Given the description of an element on the screen output the (x, y) to click on. 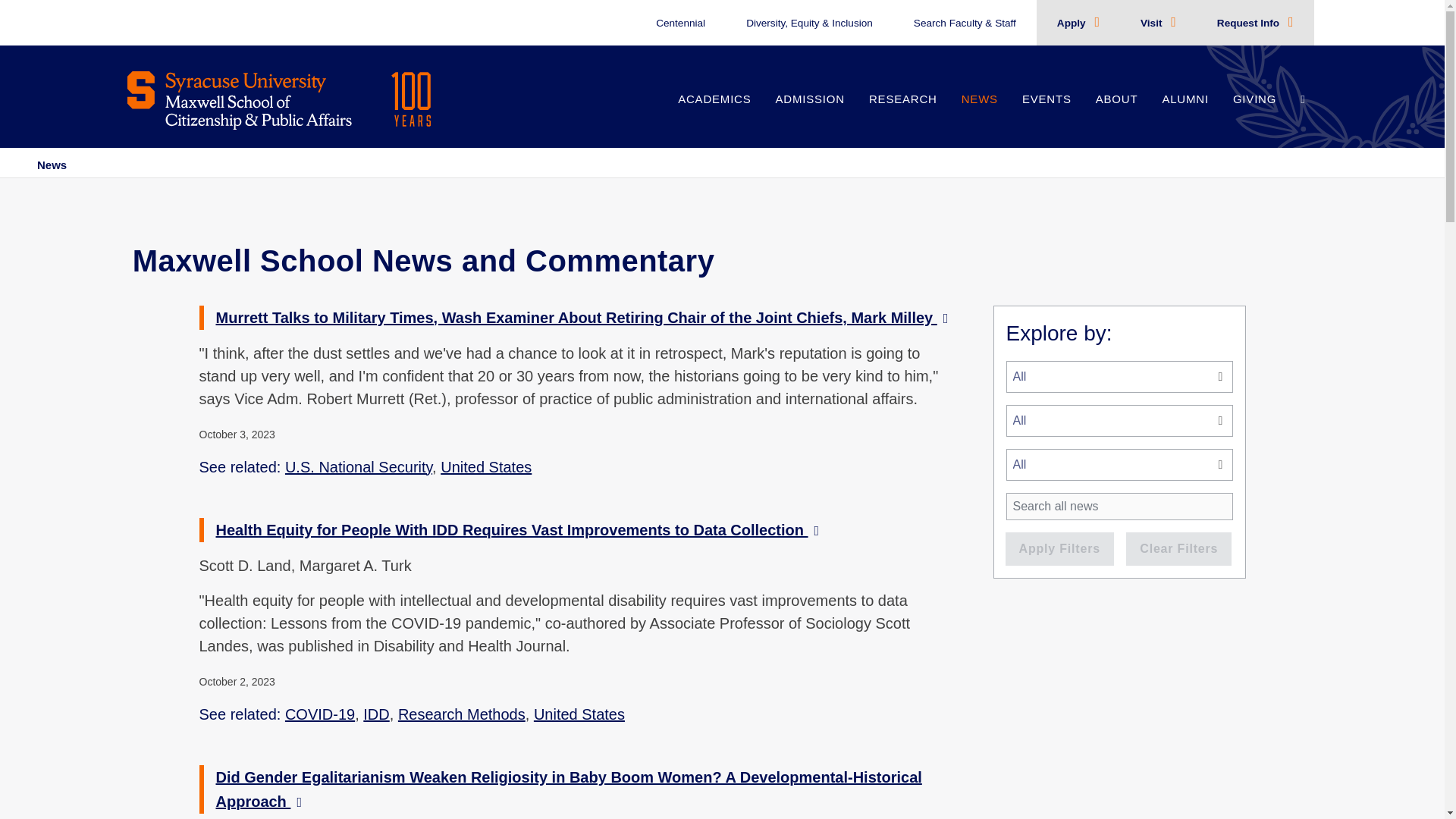
Apply (1073, 22)
NEWS (979, 114)
ADMISSION (809, 114)
RESEARCH (903, 114)
ABOUT (1116, 114)
Centennial (680, 22)
GIVING (1254, 114)
Visit (1152, 22)
EVENTS (1046, 114)
ALUMNI (1185, 114)
